Given the description of an element on the screen output the (x, y) to click on. 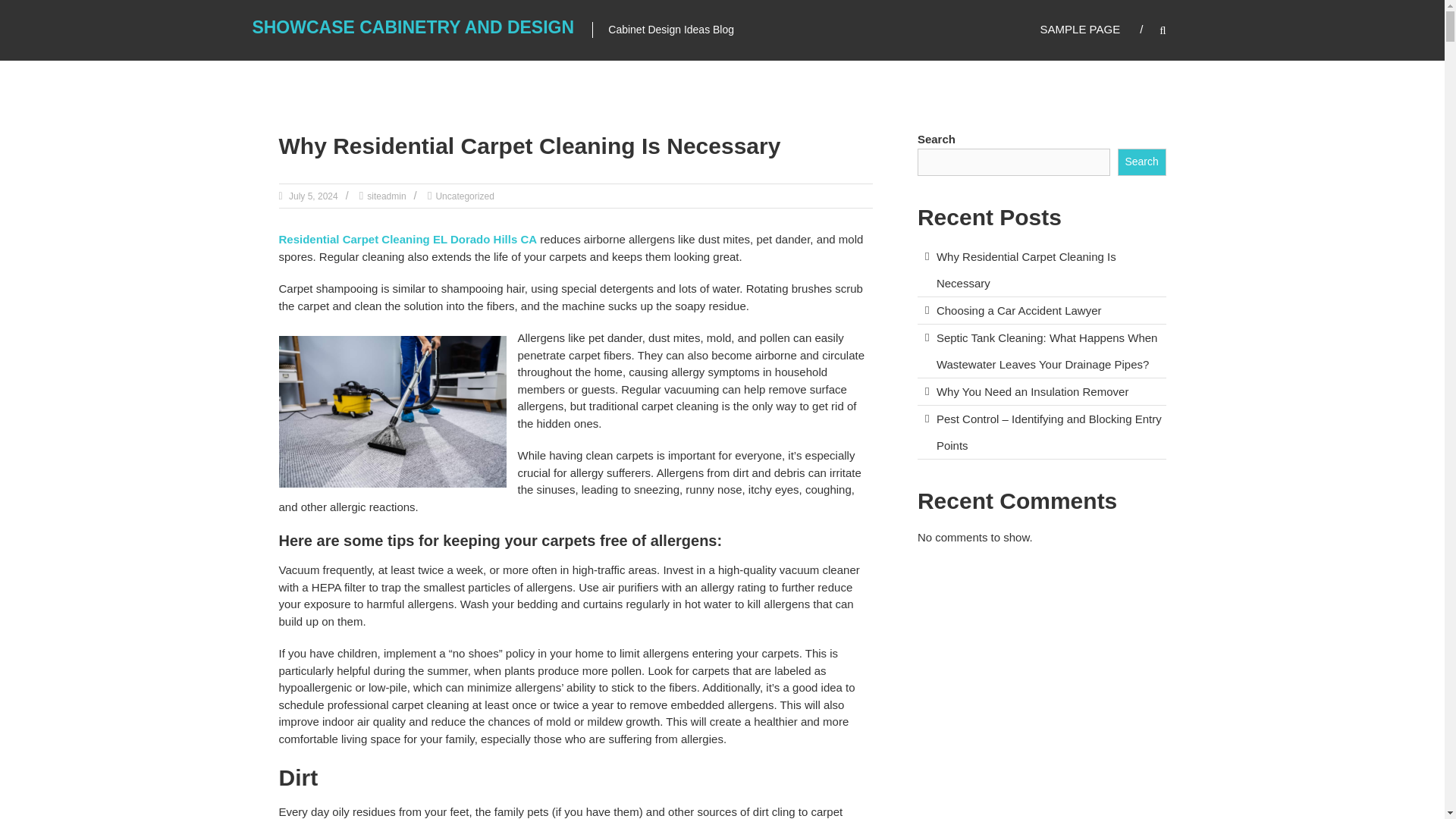
Search (1232, 409)
siteadmin (386, 195)
Uncategorized (464, 195)
July 5, 2024 (311, 195)
SAMPLE PAGE (1081, 29)
Showcase Cabinetry And Design (412, 26)
Why Residential Carpet Cleaning Is Necessary (529, 145)
siteadmin (386, 195)
SHOWCASE CABINETRY AND DESIGN (412, 26)
7:30 am (311, 195)
Why Residential Carpet Cleaning Is Necessary (529, 145)
Residential Carpet Cleaning EL Dorado Hills CA (408, 238)
